Given the description of an element on the screen output the (x, y) to click on. 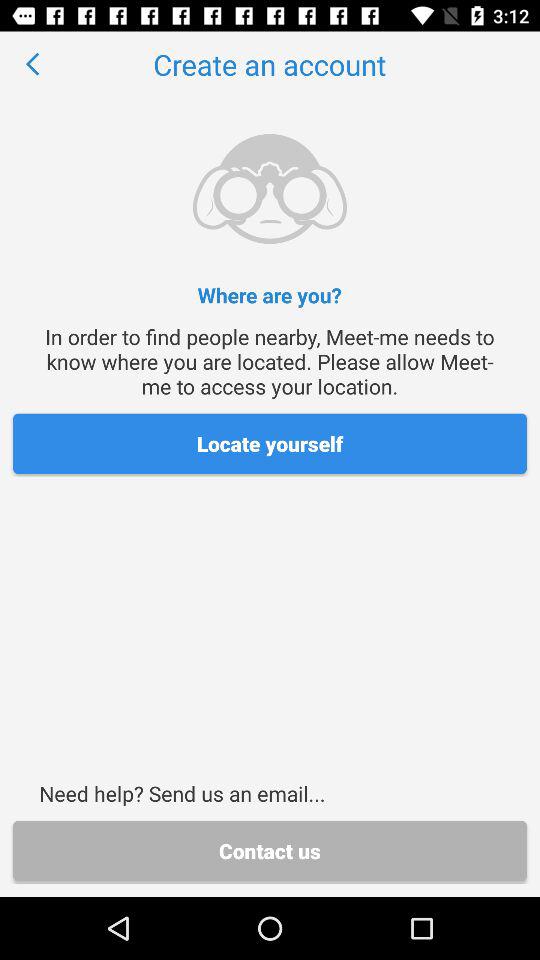
turn off the item below in order to (269, 443)
